Given the description of an element on the screen output the (x, y) to click on. 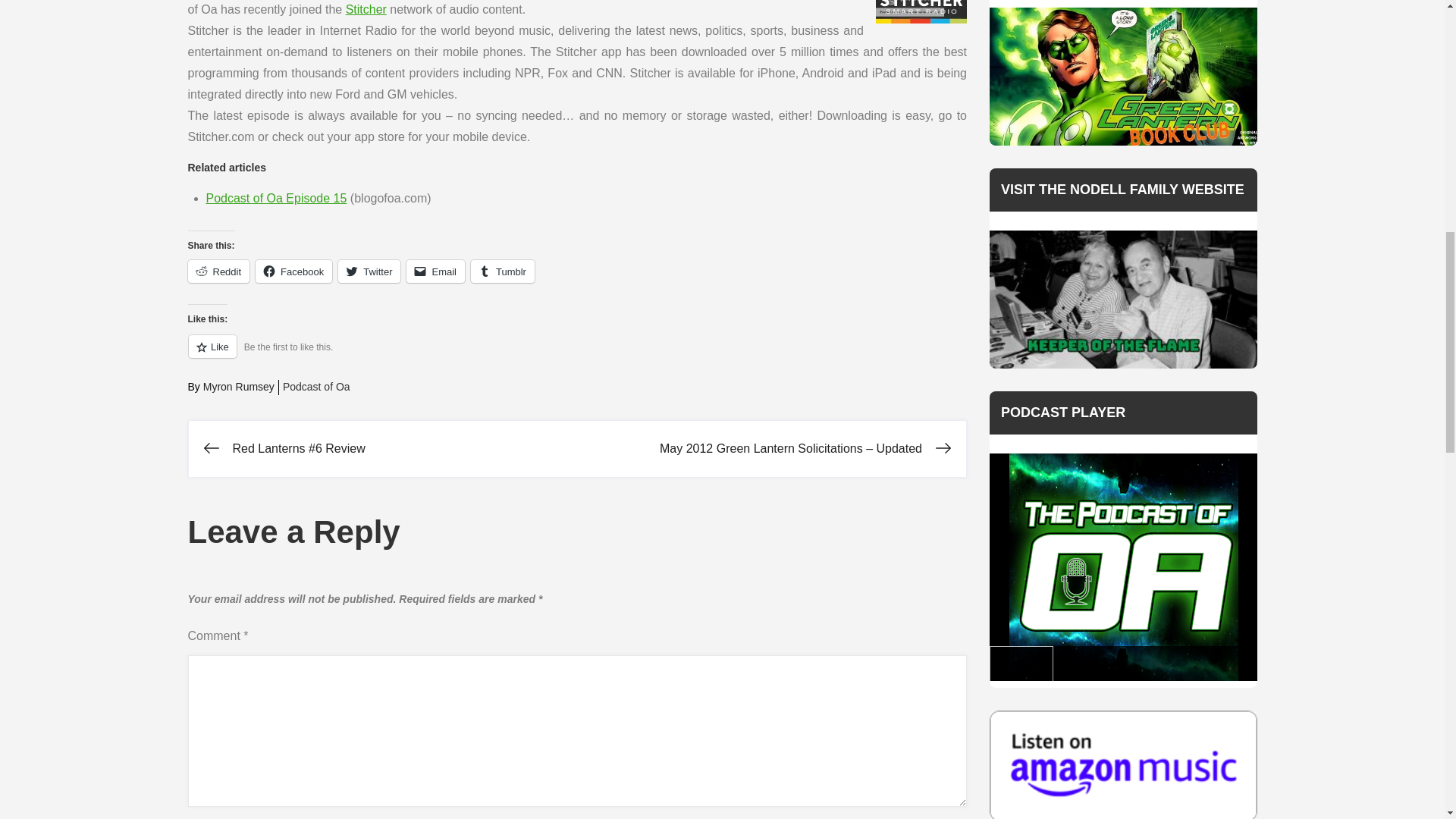
Join the Online Book Club (1123, 76)
Click to email a link to a friend (435, 271)
Click to share on Twitter (368, 271)
Click to share on Reddit (218, 271)
Click to share on Facebook (293, 271)
Click to share on Tumblr (502, 271)
Like or Reblog (577, 354)
